Given the description of an element on the screen output the (x, y) to click on. 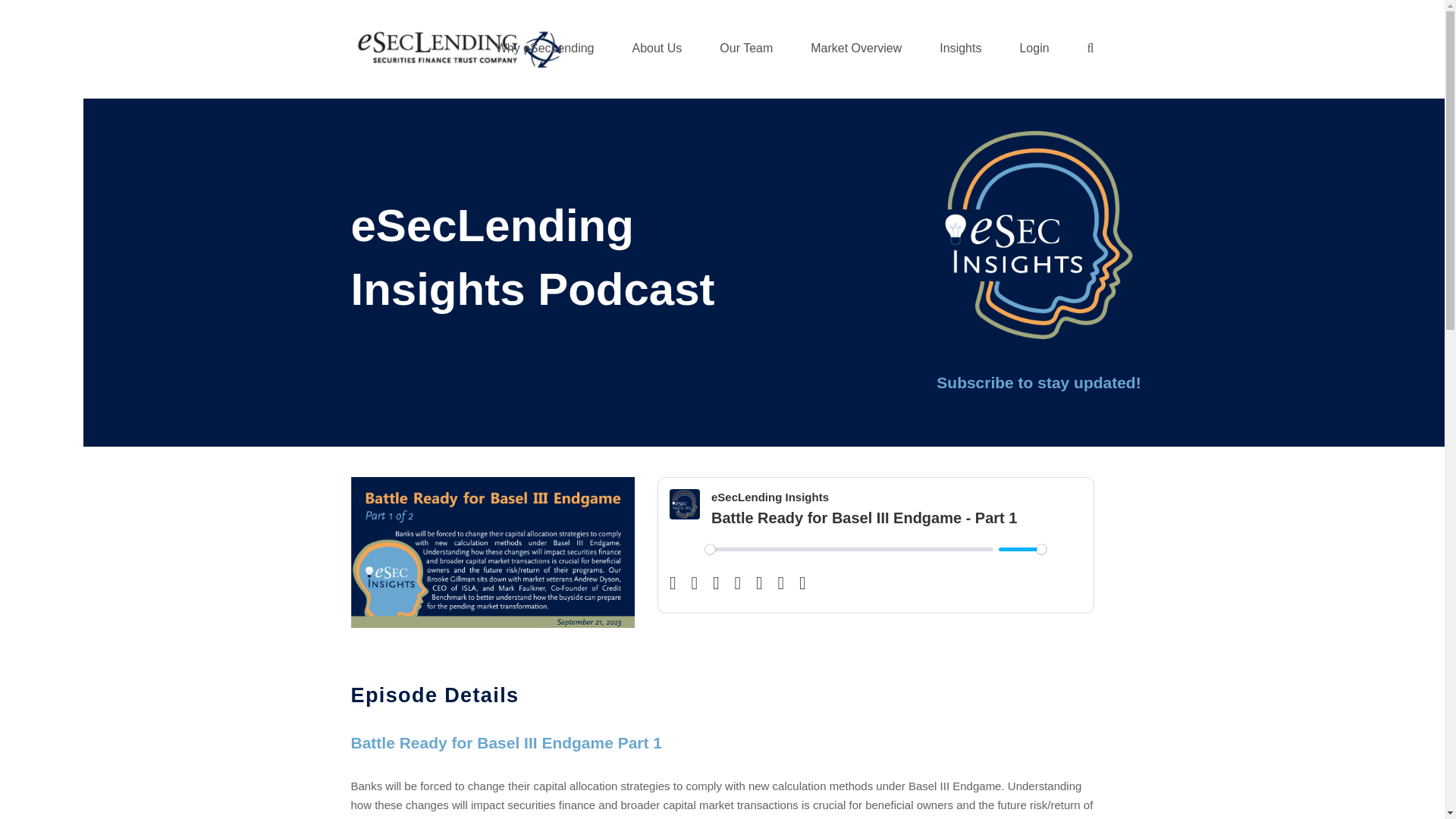
Why eSecLending (544, 48)
Our Team (745, 48)
Market Overview (855, 48)
Insights (960, 48)
Login (1033, 48)
About Us (656, 48)
Subscribe to stay updated! (1038, 382)
